Given the description of an element on the screen output the (x, y) to click on. 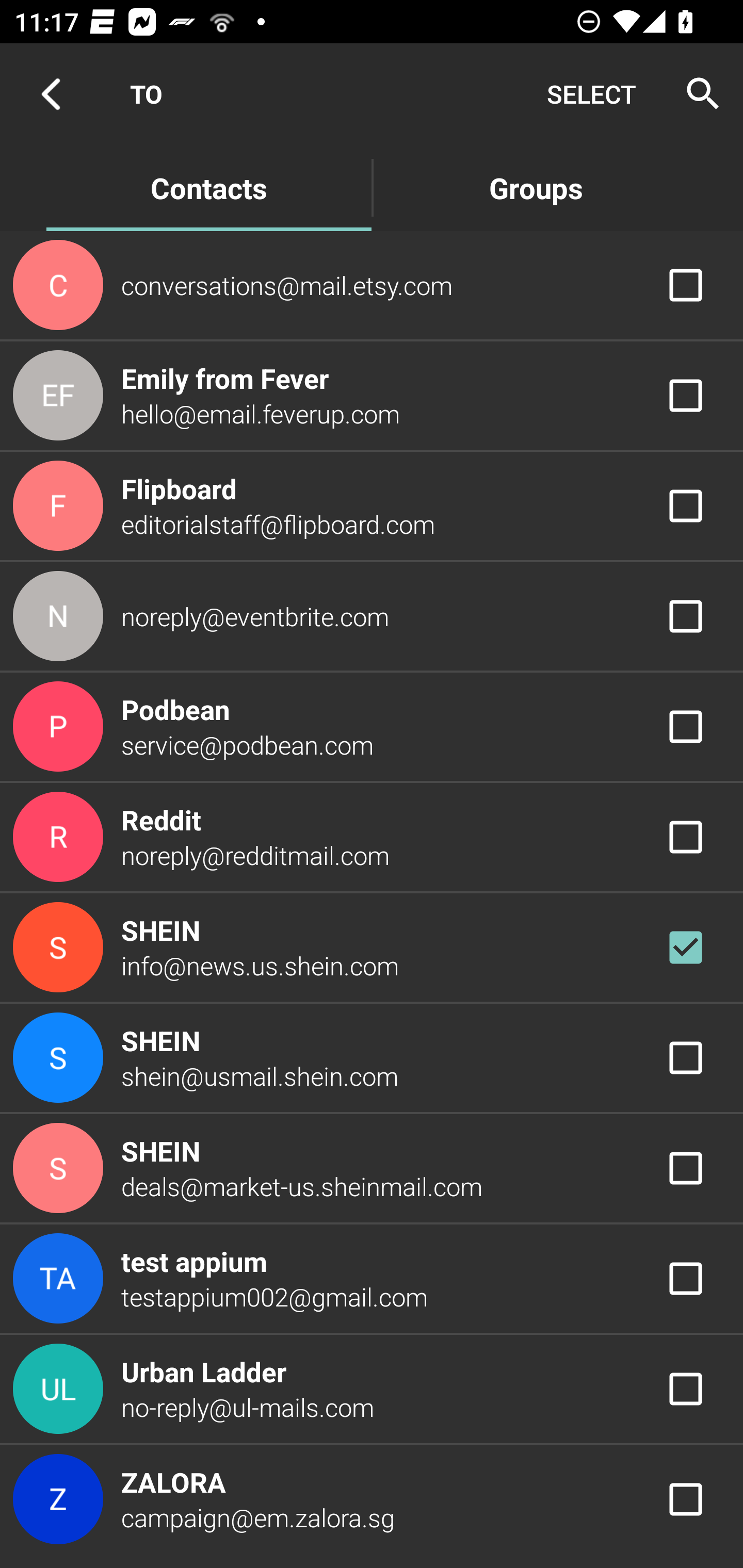
Navigate up (50, 93)
SELECT (590, 93)
Search (696, 93)
Contacts (208, 187)
Groups (535, 187)
conversations@mail.etsy.com (371, 284)
Emily from Fever hello@email.feverup.com (371, 395)
Flipboard editorialstaff@flipboard.com (371, 505)
noreply@eventbrite.com (371, 616)
Podbean service@podbean.com (371, 726)
Reddit noreply@redditmail.com (371, 836)
SHEIN info@news.us.shein.com (371, 947)
SHEIN shein@usmail.shein.com (371, 1057)
SHEIN deals@market-us.sheinmail.com (371, 1168)
test appium testappium002@gmail.com (371, 1278)
Urban Ladder no-reply@ul-mails.com (371, 1388)
ZALORA campaign@em.zalora.sg (371, 1499)
